Given the description of an element on the screen output the (x, y) to click on. 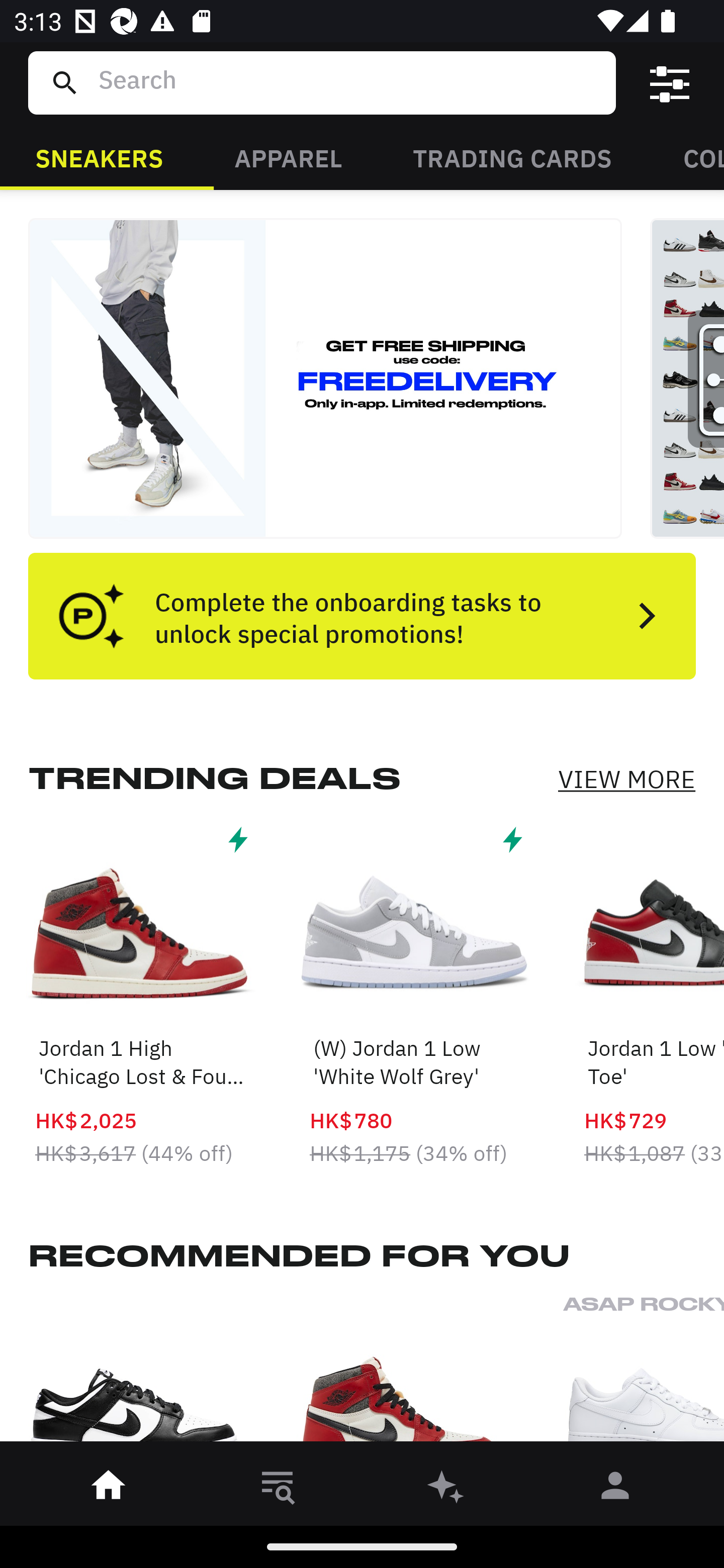
Search (349, 82)
 (669, 82)
SNEAKERS (99, 156)
APPAREL (287, 156)
TRADING CARDS (512, 156)
VIEW MORE (626, 779)
ASAP ROCKY (643, 1373)
󰋜 (108, 1488)
󱎸 (277, 1488)
󰫢 (446, 1488)
󰀄 (615, 1488)
